Given the description of an element on the screen output the (x, y) to click on. 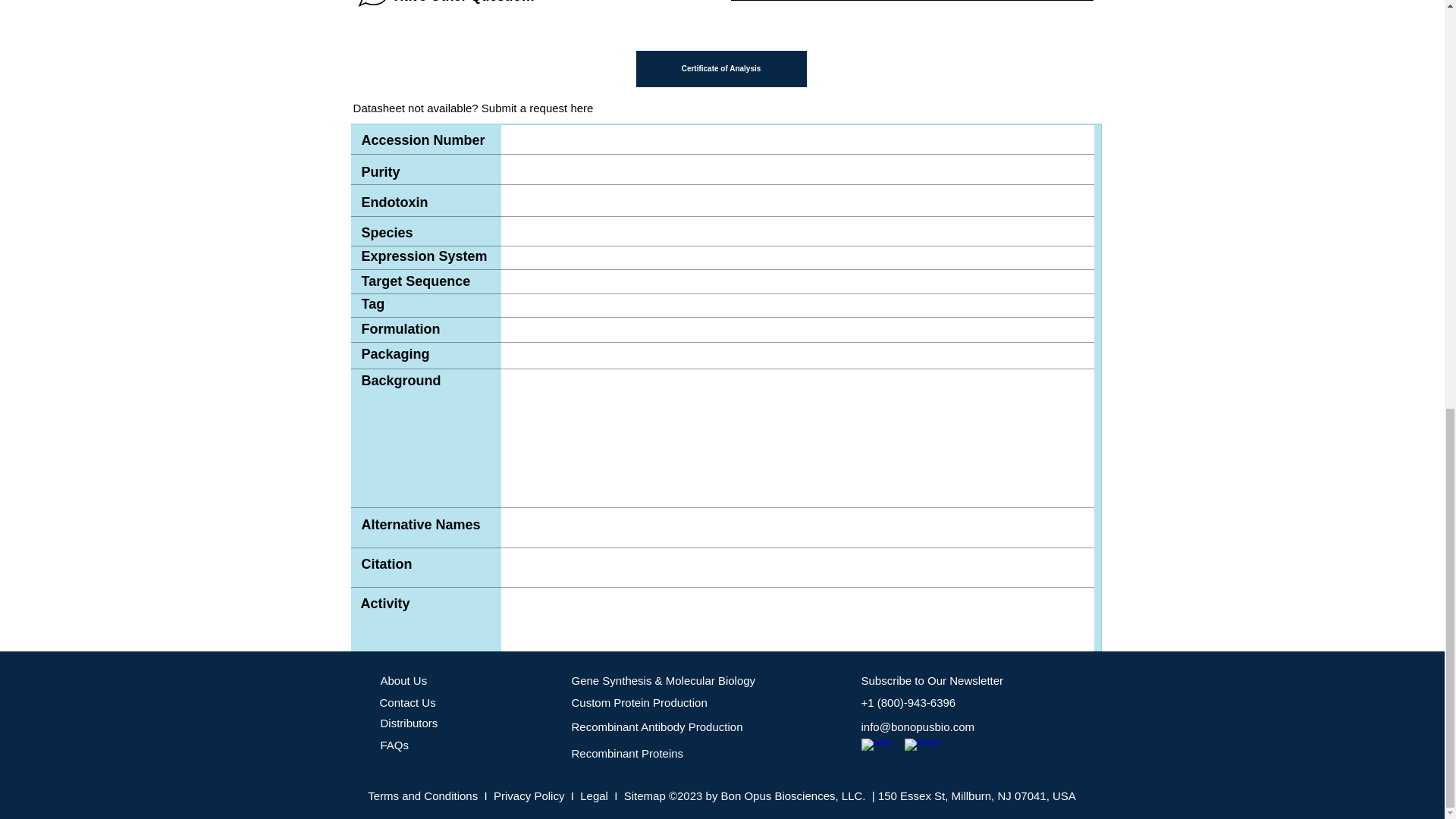
Datasheet not available? Submit a request here (472, 108)
Certificate of Analysis (720, 68)
About Us (404, 680)
Have Other Questions? (444, 5)
